Given the description of an element on the screen output the (x, y) to click on. 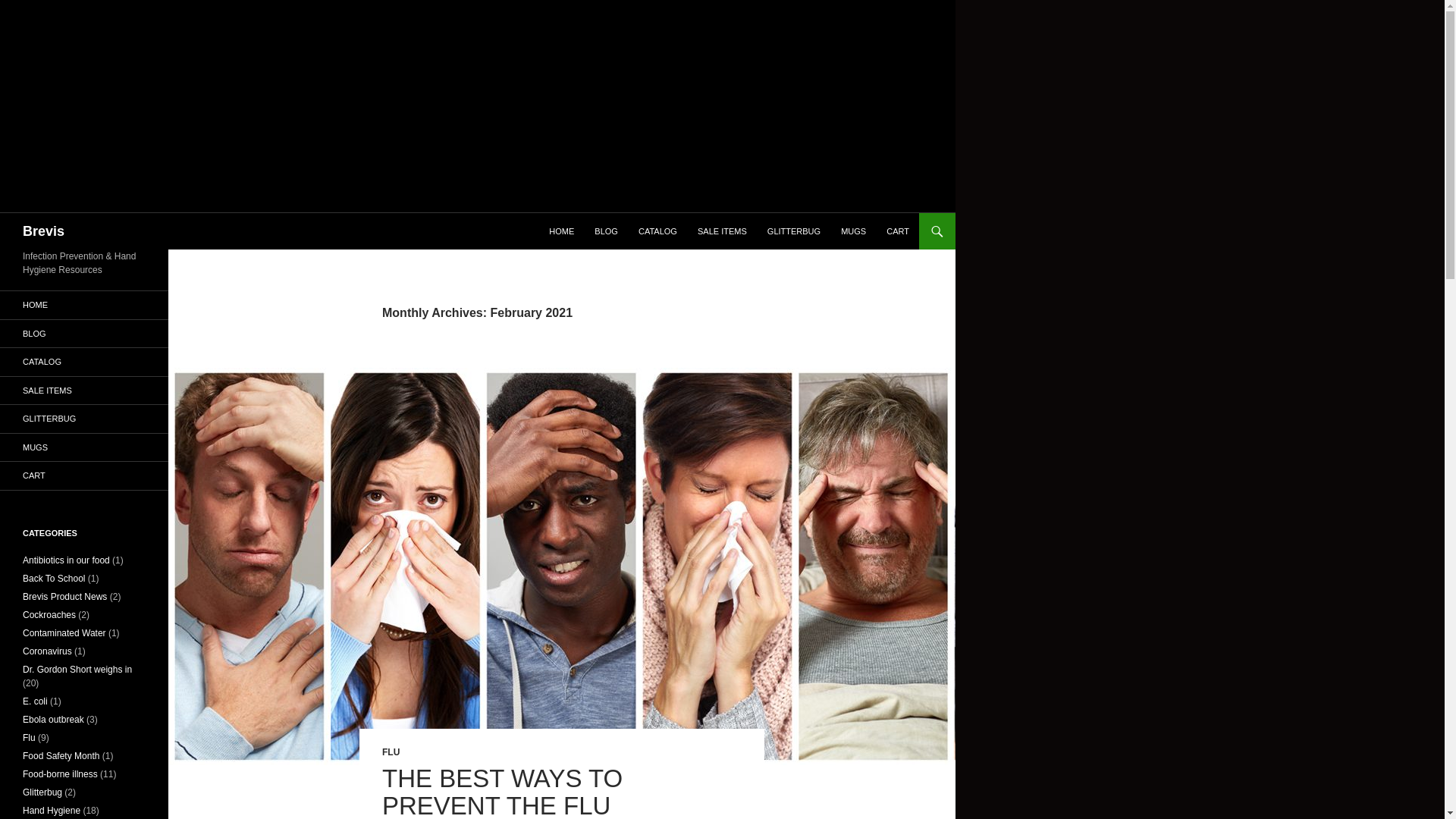
CART (84, 475)
Flu (28, 737)
CATALOG (84, 361)
Coronavirus (47, 651)
CART (897, 230)
Cockroaches (49, 614)
FLU (389, 751)
Back To School (54, 578)
Contaminated Water (64, 633)
THE BEST WAYS TO PREVENT THE FLU (502, 791)
